Given the description of an element on the screen output the (x, y) to click on. 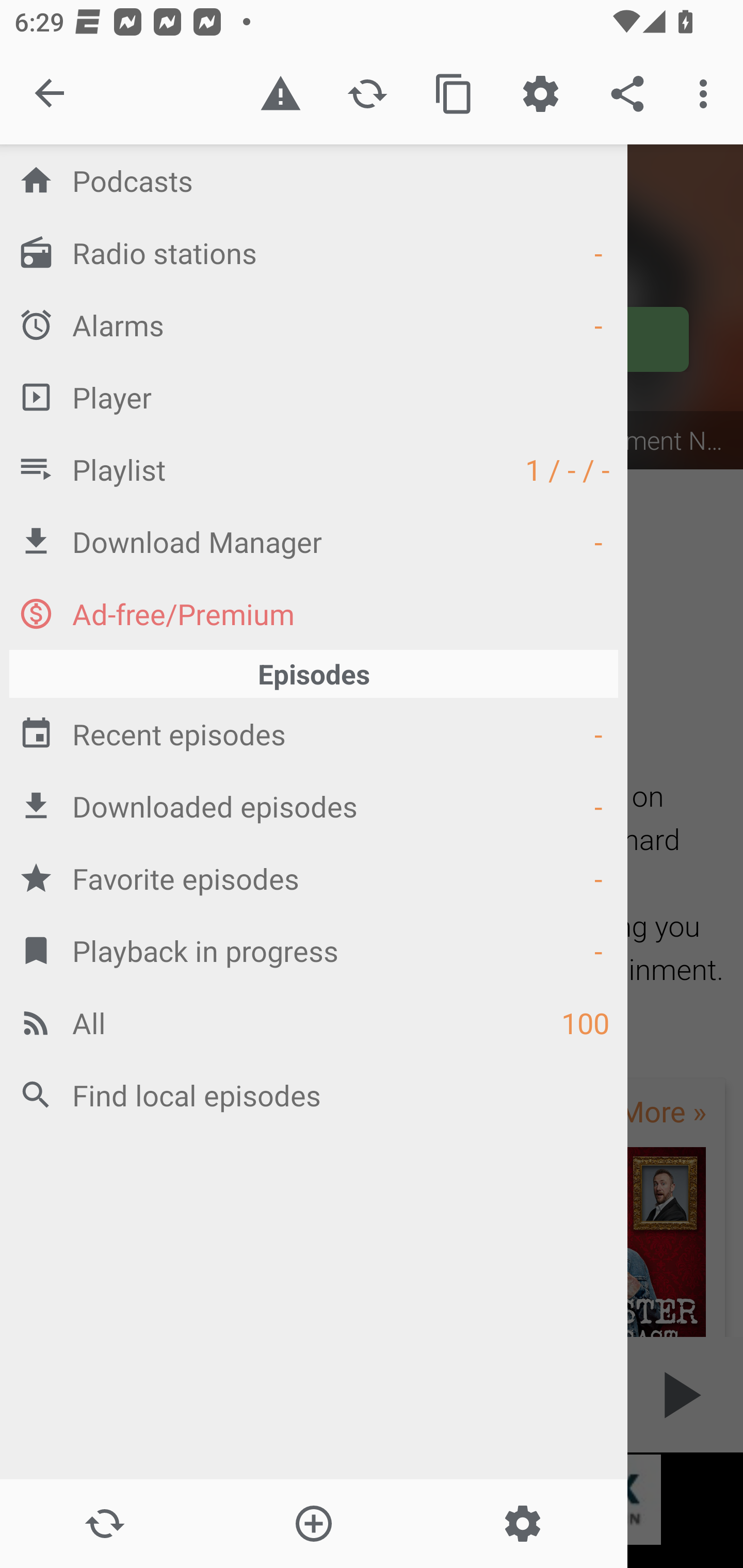
Close navigation sidebar (50, 93)
Report inappropriate content (280, 93)
Refresh podcast description (366, 93)
Copy feed url to clipboard (453, 93)
Custom Settings (540, 93)
Share the podcast (626, 93)
More options (706, 93)
Podcasts (313, 180)
Radio stations  -  (313, 252)
Alarms  -  (313, 324)
Player (313, 396)
Playlist 1 / - / - (313, 468)
Download Manager  -  (313, 540)
Ad-free/Premium (313, 613)
Recent episodes  -  (313, 733)
Downloaded episodes  -  (313, 805)
Favorite episodes  -  (313, 878)
Playback in progress  -  (313, 950)
All 100 (313, 1022)
Find local episodes (313, 1094)
Update (104, 1523)
Add new Podcast (312, 1523)
Settings (522, 1523)
